Given the description of an element on the screen output the (x, y) to click on. 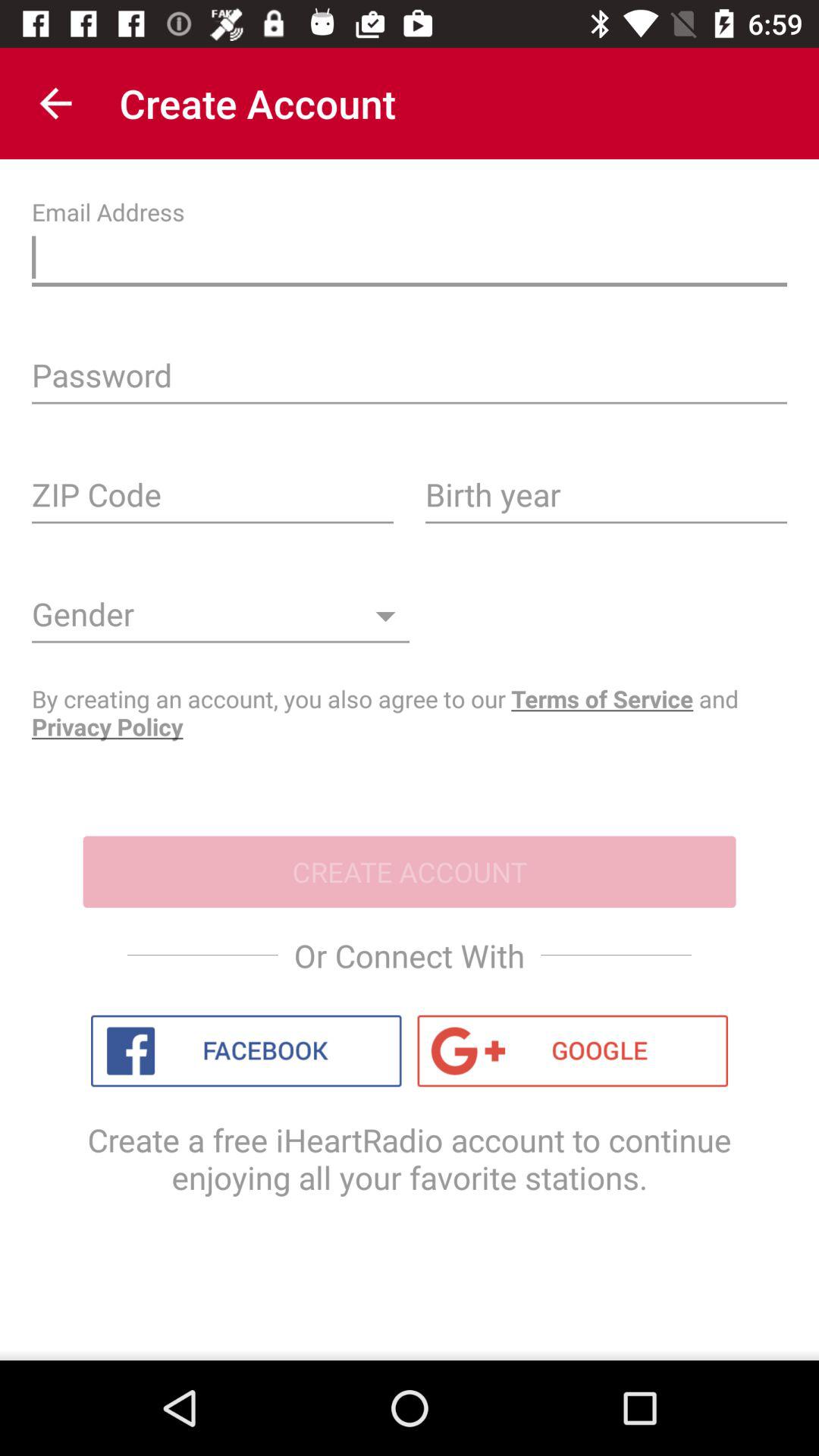
launch icon above by creating an icon (220, 619)
